Given the description of an element on the screen output the (x, y) to click on. 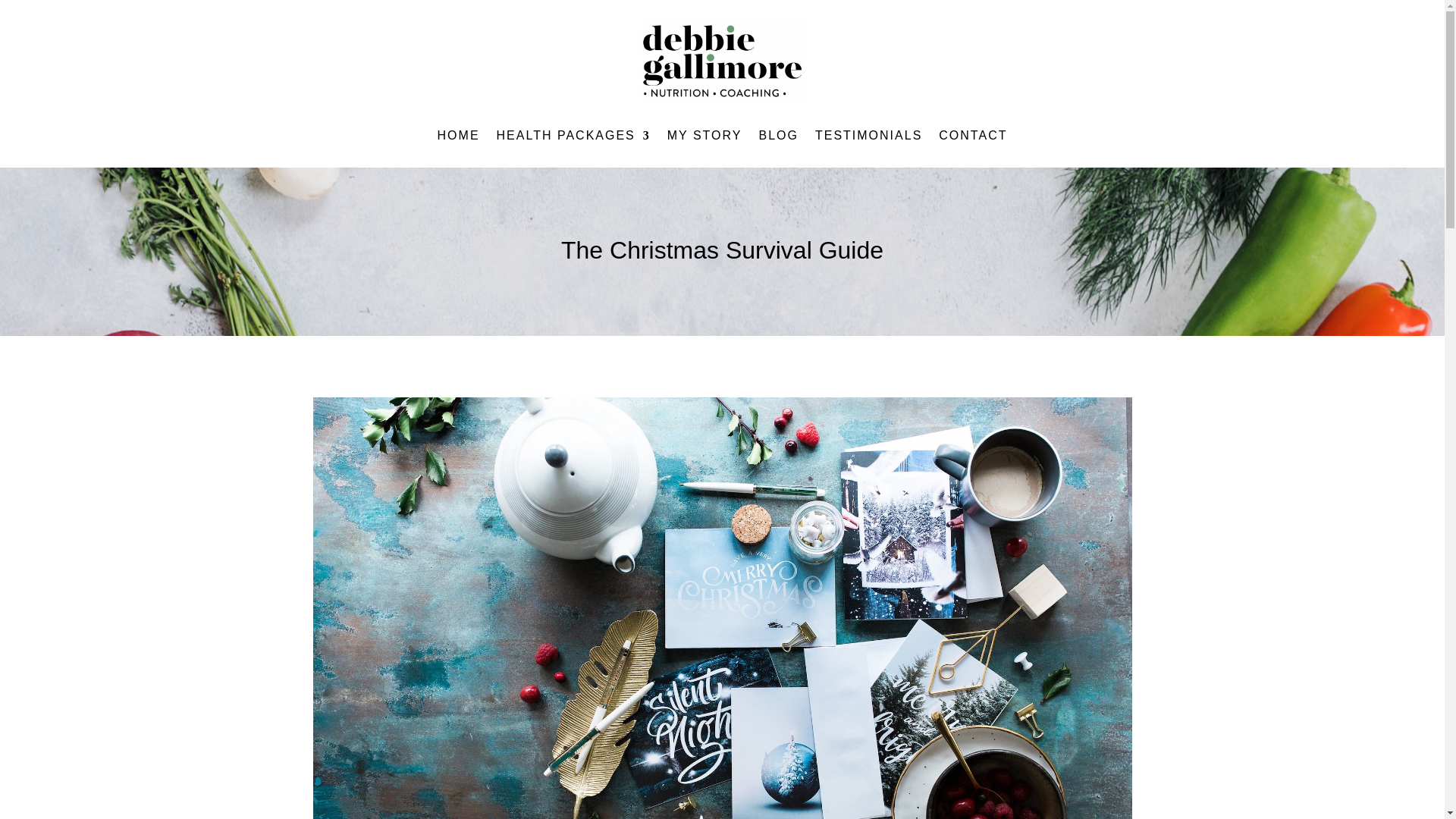
MY STORY (704, 138)
BLOG (777, 138)
HEALTH PACKAGES (573, 138)
HOME (459, 138)
CONTACT (973, 138)
Debbie Gallimore Logo (721, 61)
TESTIMONIALS (868, 138)
